Given the description of an element on the screen output the (x, y) to click on. 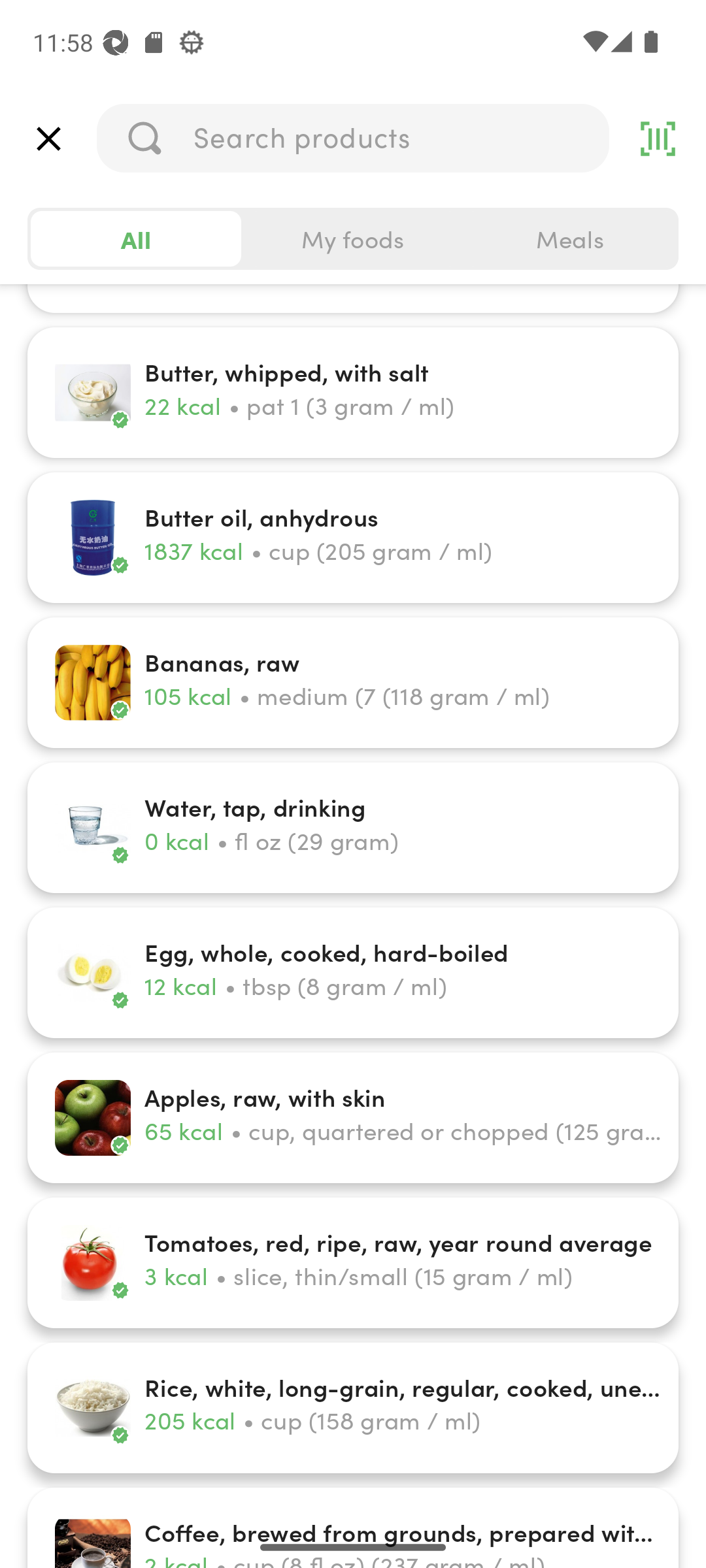
top_left_action (48, 138)
top_right_action (658, 138)
My foods (352, 238)
Meals (569, 238)
Bananas, raw 105 kcal  • medium (7 (118 gram / ml) (352, 682)
Water, tap, drinking 0 kcal  • fl oz (29 gram) (352, 827)
